Given the description of an element on the screen output the (x, y) to click on. 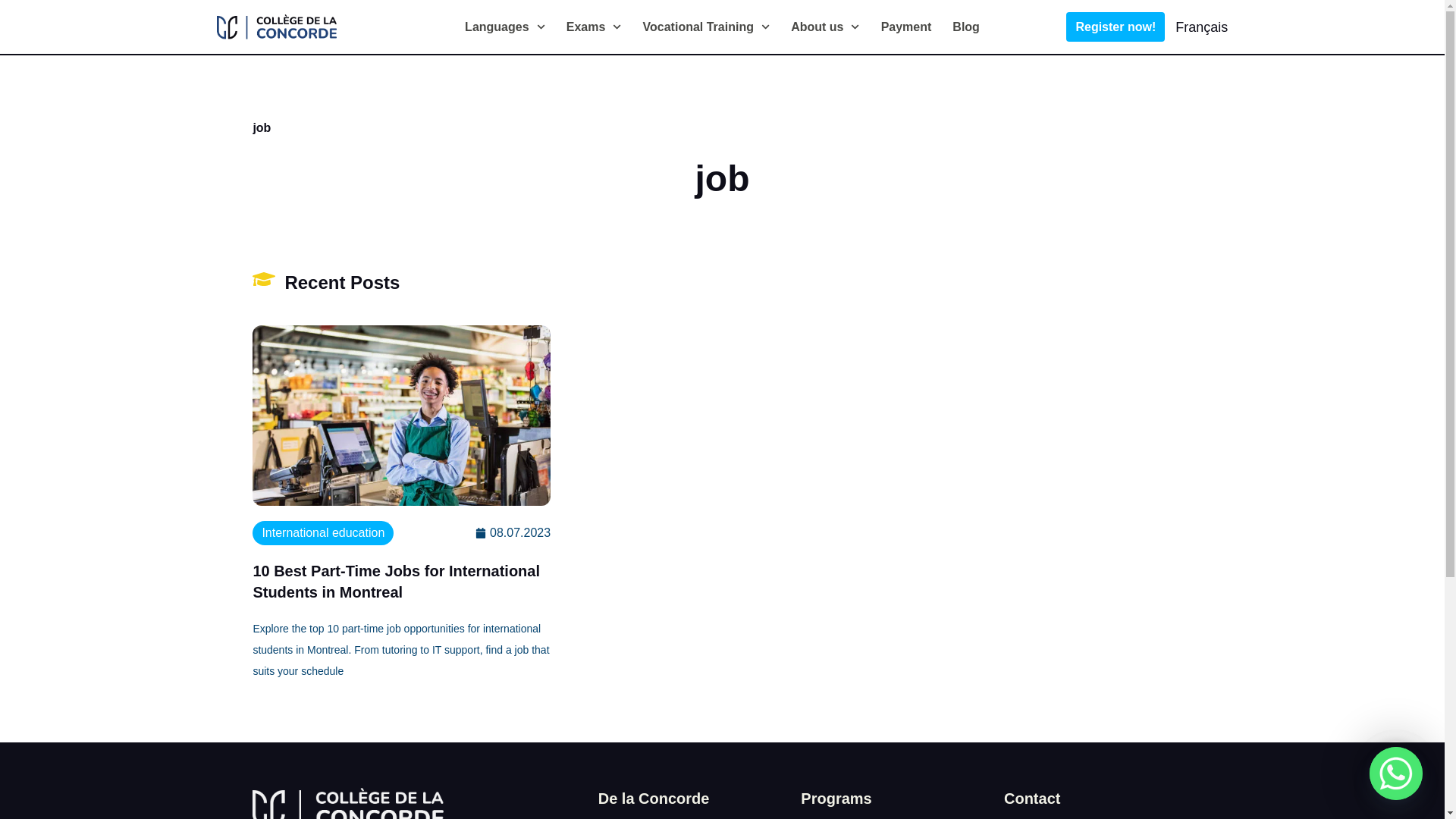
Languages (504, 27)
About us (825, 27)
Exams (593, 27)
Vocational Training (706, 27)
